Given the description of an element on the screen output the (x, y) to click on. 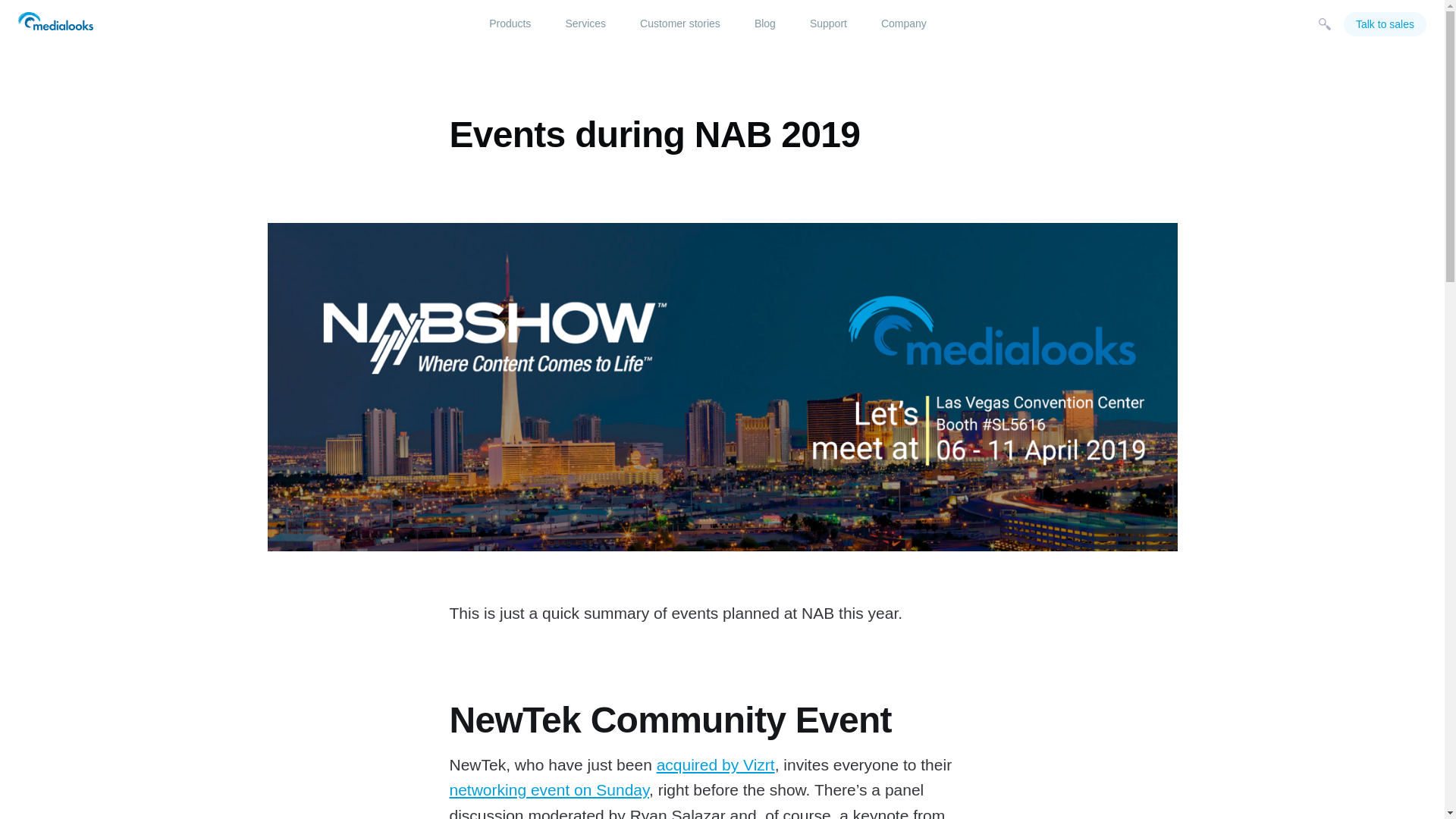
Customer stories (679, 24)
Talk to sales (1384, 24)
Products (509, 24)
Blog (765, 24)
Support (828, 24)
Services (584, 24)
networking event on Sunday (547, 789)
Company (904, 24)
acquired by Vizrt (715, 764)
